Given the description of an element on the screen output the (x, y) to click on. 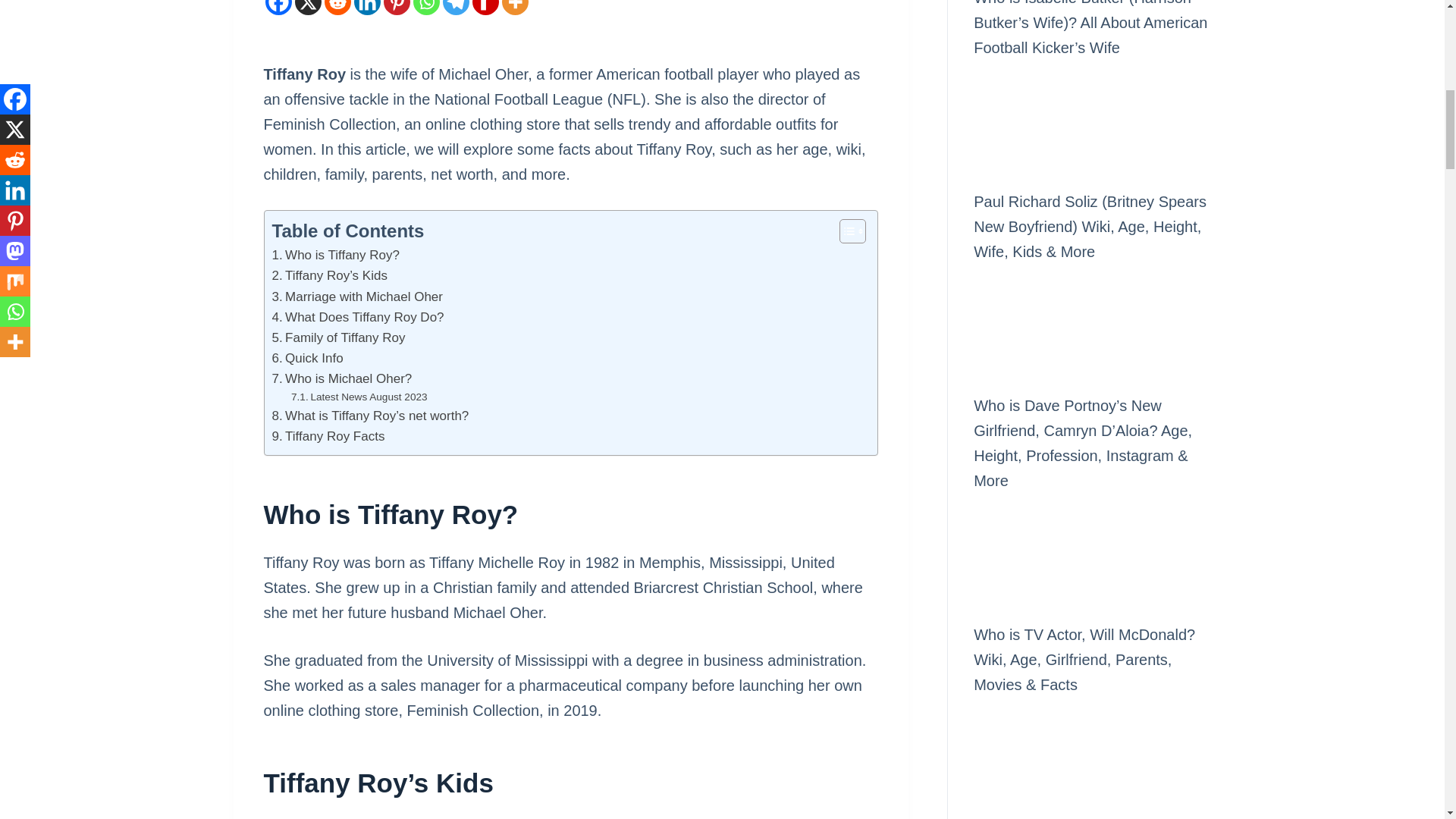
What Does Tiffany Roy Do? (357, 317)
Facebook (278, 7)
Telegram (455, 7)
Marriage with Michael Oher (356, 296)
Pinterest (397, 7)
Linkedin (366, 7)
Who is Tiffany Roy? (334, 254)
Rediff MyPage (484, 7)
More (515, 7)
Reddit (337, 7)
X (307, 7)
Whatsapp (425, 7)
